Given the description of an element on the screen output the (x, y) to click on. 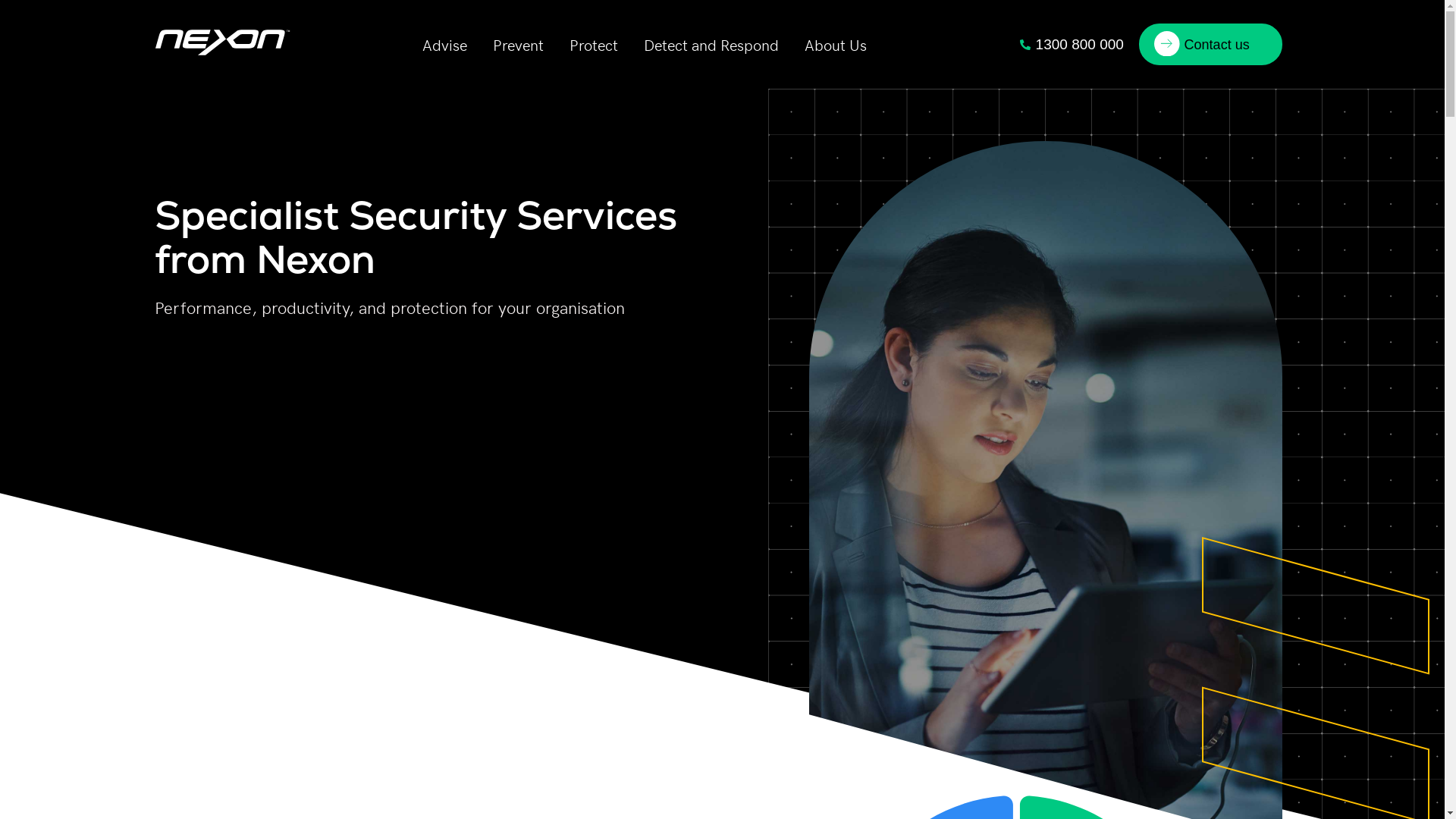
About Us Element type: text (835, 44)
Prevent Element type: text (518, 44)
Detect and Respond Element type: text (710, 44)
Advise Element type: text (444, 44)
Contact us Element type: text (1210, 44)
Protect Element type: text (593, 44)
1300 800 000 Element type: text (1071, 44)
Nexon Asia Pacific Element type: text (222, 62)
